Given the description of an element on the screen output the (x, y) to click on. 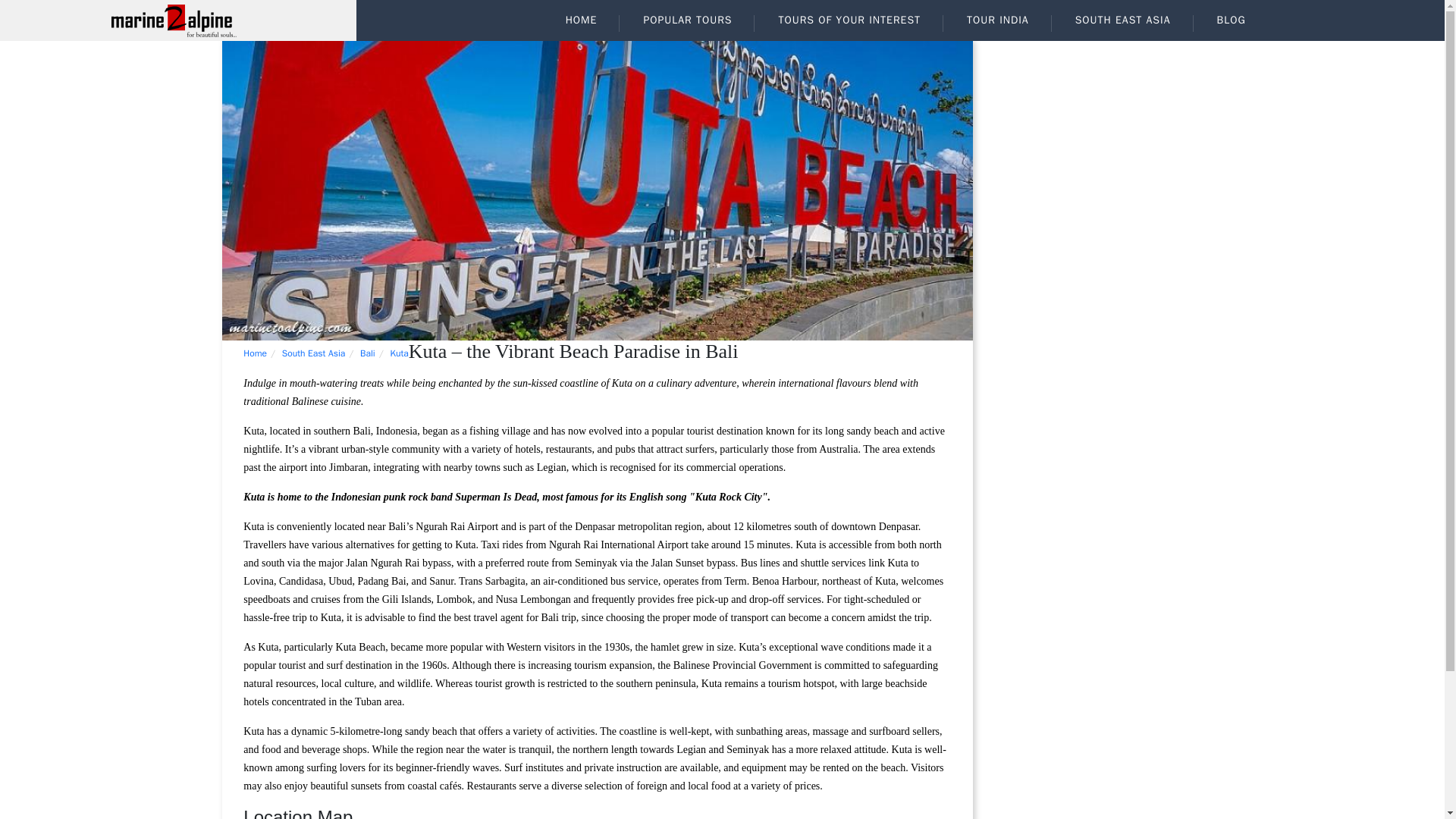
SOUTH EAST ASIA (1122, 20)
TOUR INDIA (997, 20)
HOME (581, 20)
BLOG (1230, 20)
POPULAR TOURS (687, 20)
South East Asia (313, 353)
Home (254, 353)
TOURS OF YOUR INTEREST (849, 20)
Kuta (399, 353)
